Given the description of an element on the screen output the (x, y) to click on. 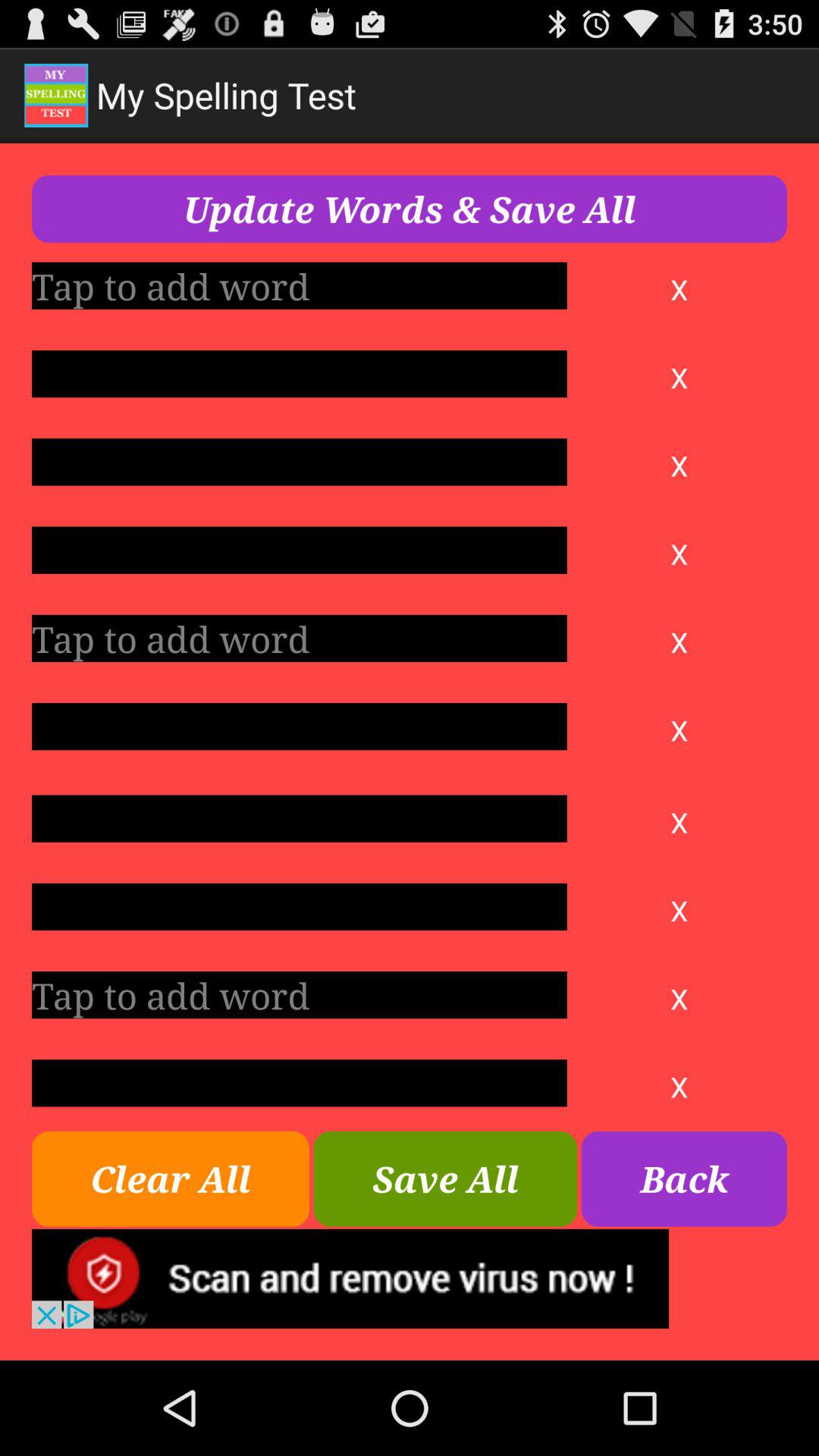
click the box (299, 461)
